Given the description of an element on the screen output the (x, y) to click on. 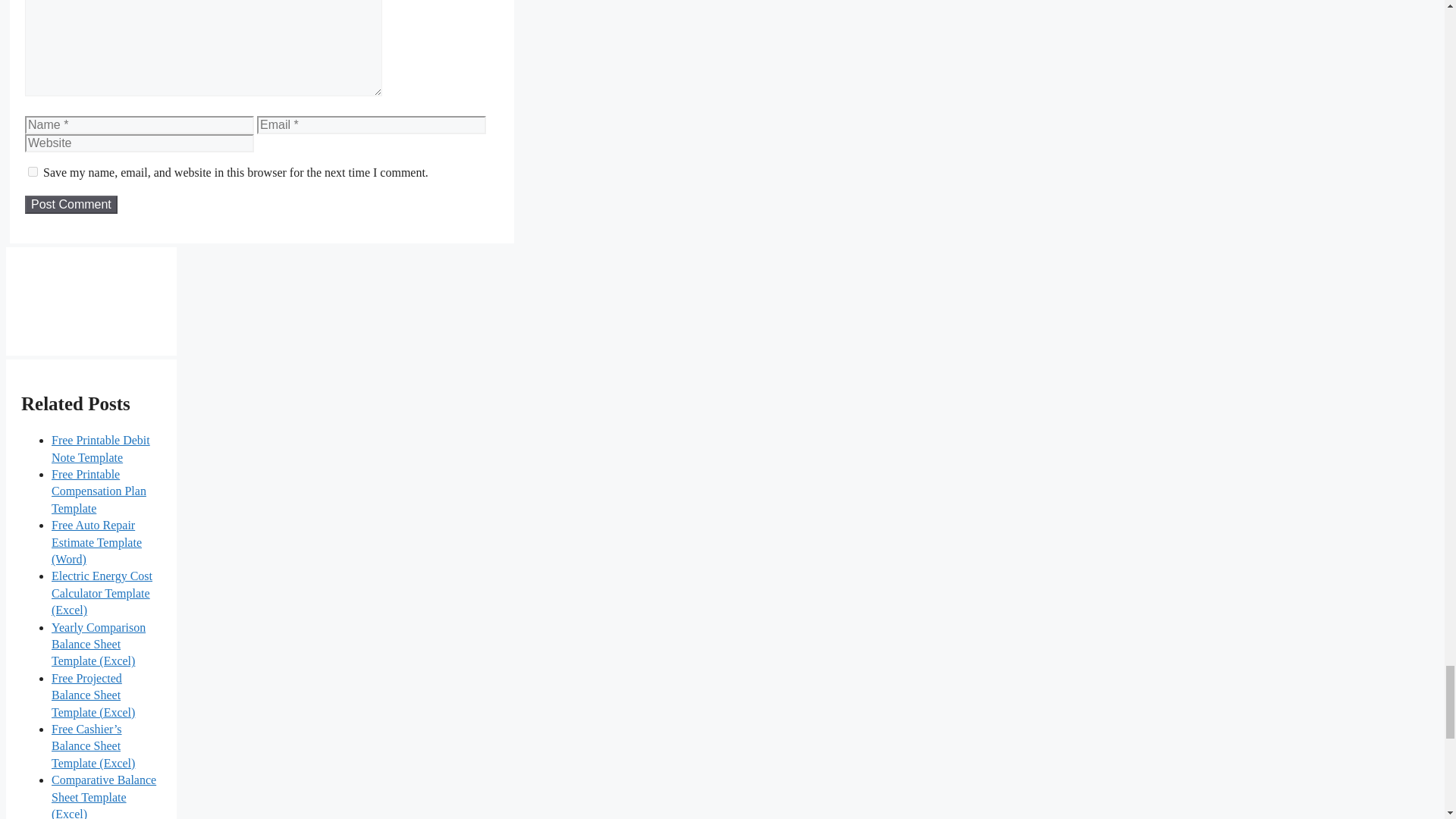
yes (32, 171)
Post Comment (70, 204)
Free Printable Compensation Plan Template (98, 491)
Free Printable Debit Note Template (99, 448)
Post Comment (70, 204)
